Given the description of an element on the screen output the (x, y) to click on. 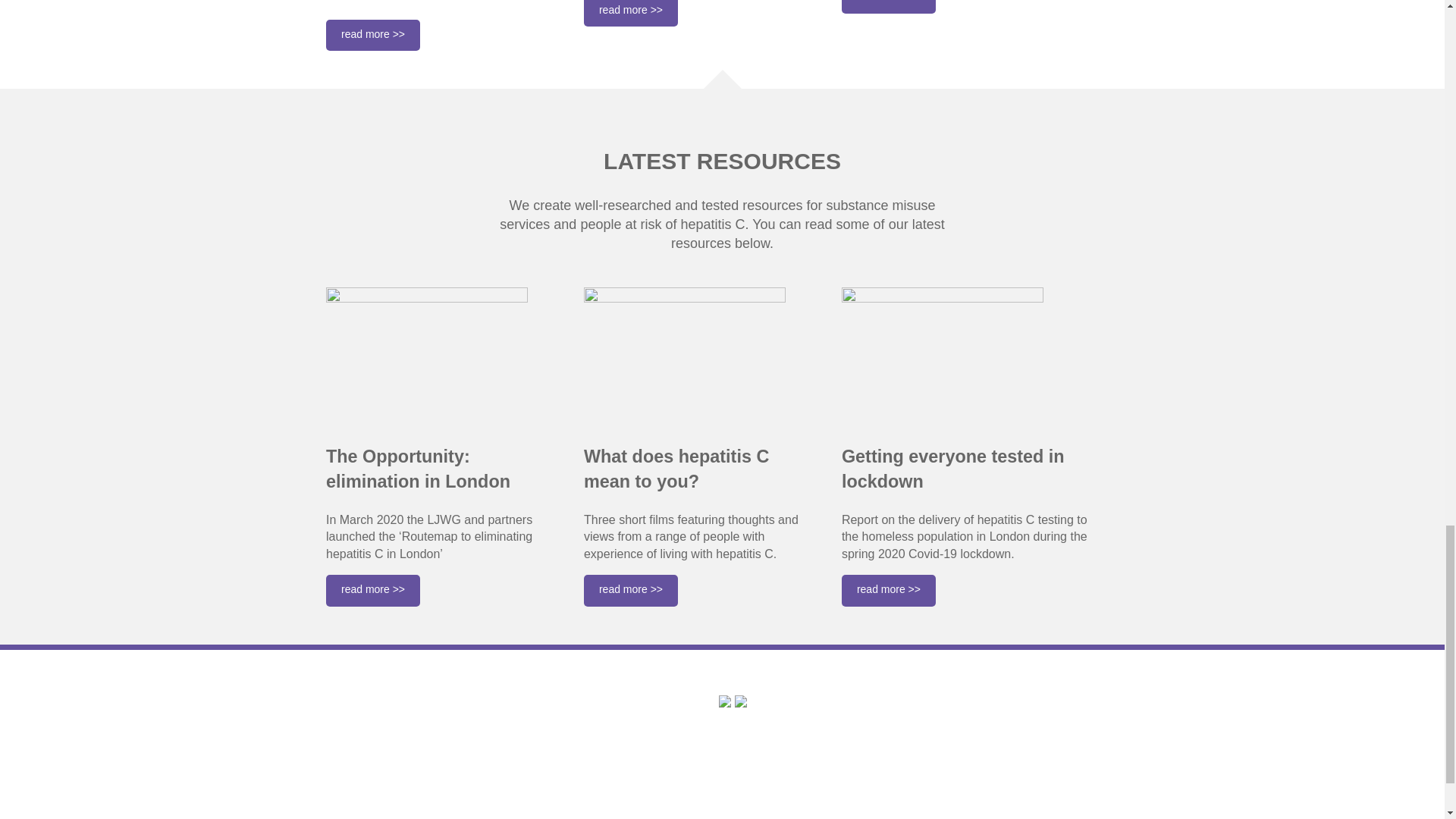
Events (347, 797)
Contact (349, 814)
Sign up for e-updates (584, 755)
What We Do (364, 759)
Who We Are (364, 740)
Home (344, 721)
News (342, 778)
